Given the description of an element on the screen output the (x, y) to click on. 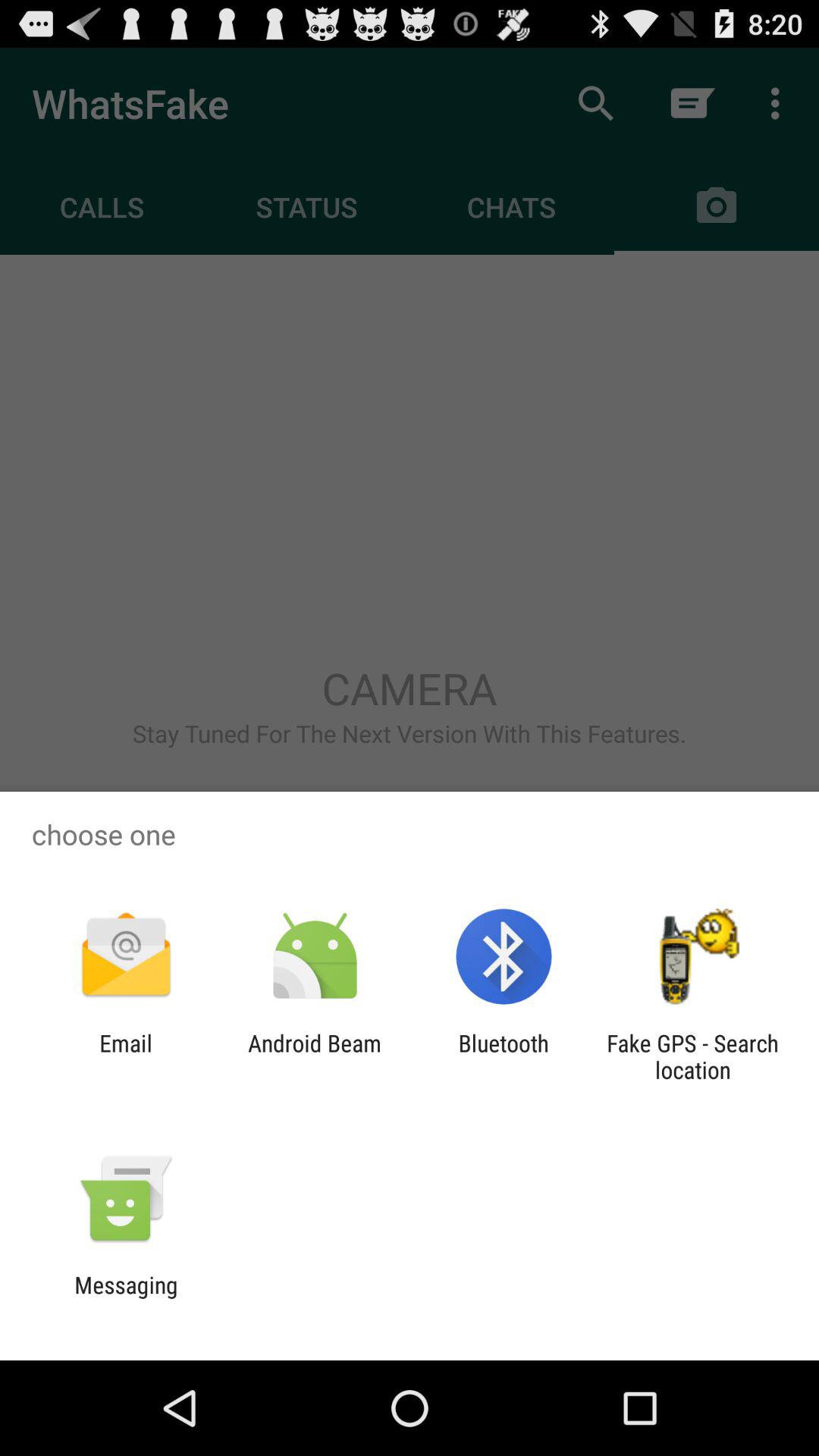
select the bluetooth app (503, 1056)
